Given the description of an element on the screen output the (x, y) to click on. 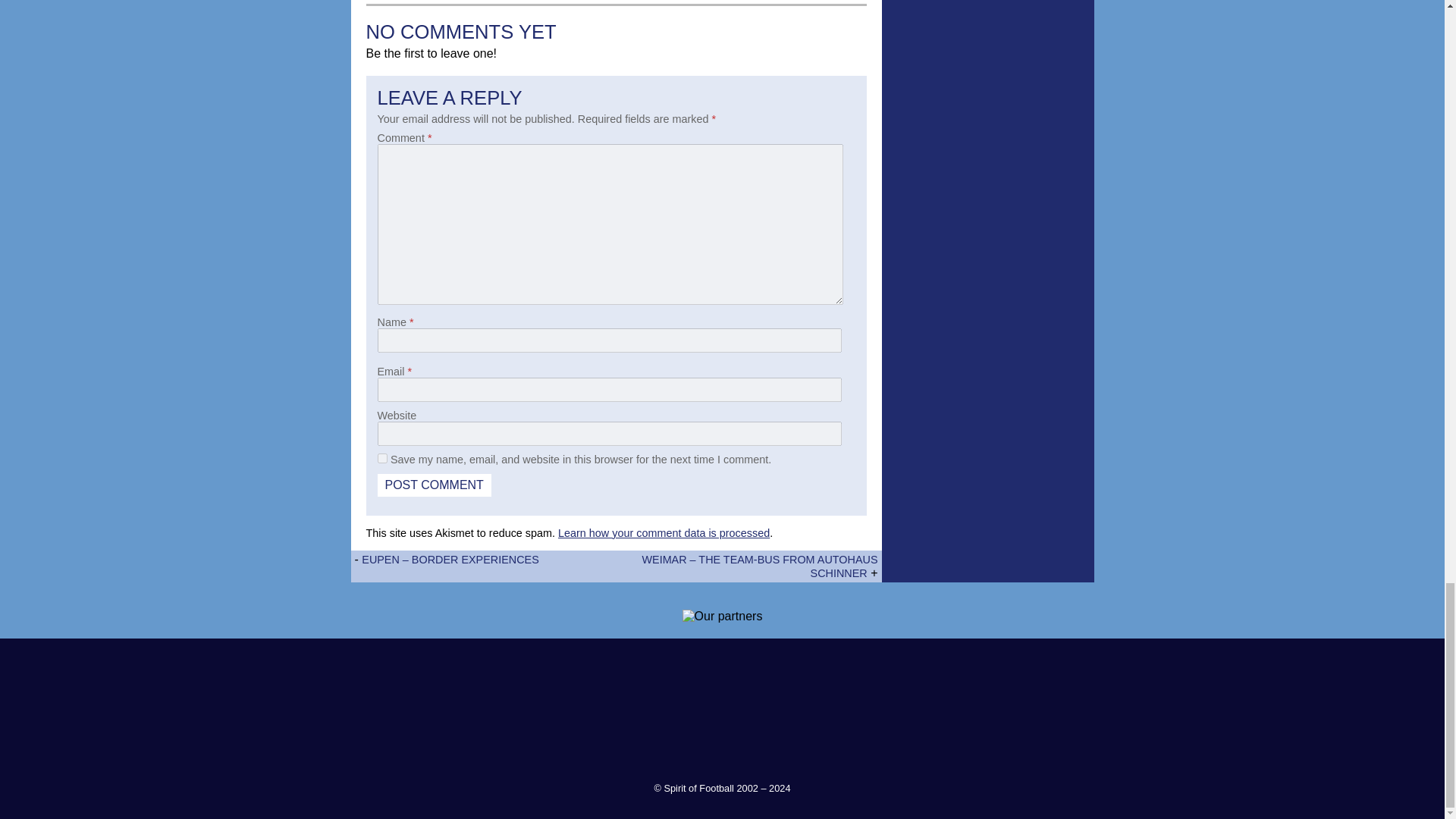
Post Comment (434, 485)
Post Comment (434, 485)
Learn how your comment data is processed (663, 532)
yes (382, 458)
